Given the description of an element on the screen output the (x, y) to click on. 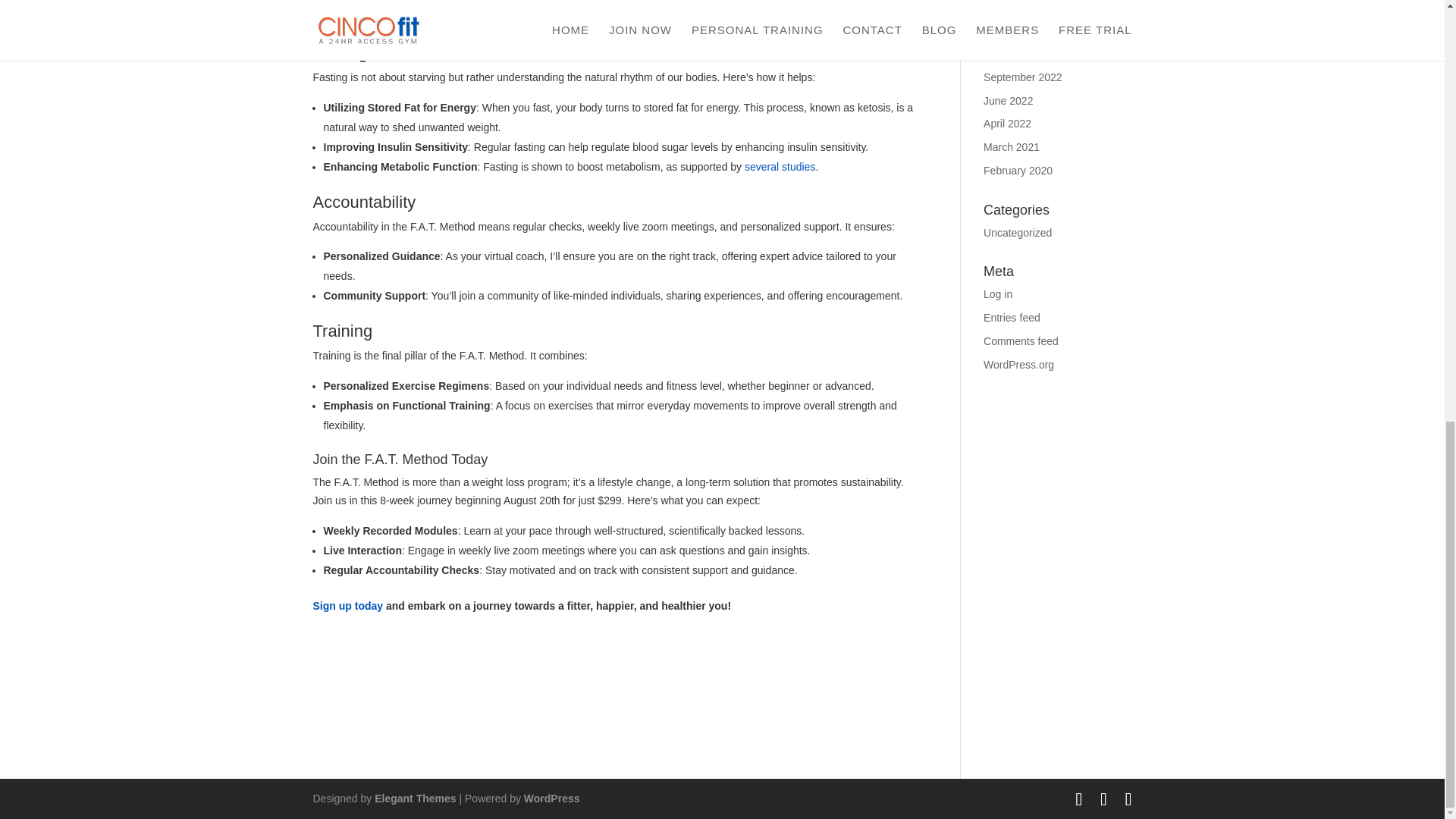
June 2023 (1008, 6)
October 2022 (1016, 53)
CINCOfit (345, 24)
September 2022 (1023, 77)
Premium WordPress Themes (414, 798)
May 2023 (1006, 30)
June 2022 (1008, 100)
several studies (779, 166)
Sign up today (347, 605)
